Given the description of an element on the screen output the (x, y) to click on. 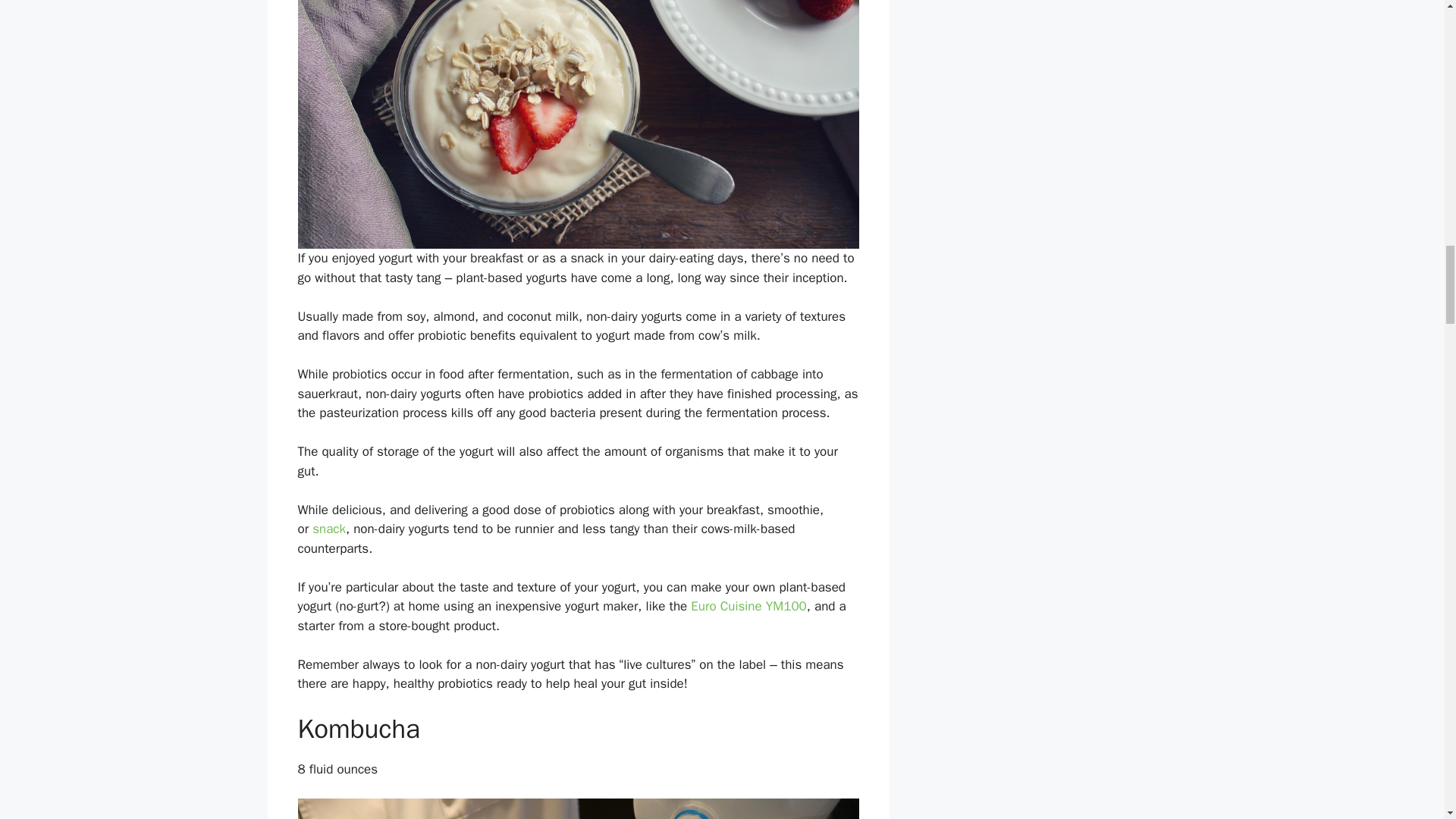
snack (329, 528)
Euro Cuisine YM100 (748, 606)
Euro Cuisine YM100 (748, 606)
